Given the description of an element on the screen output the (x, y) to click on. 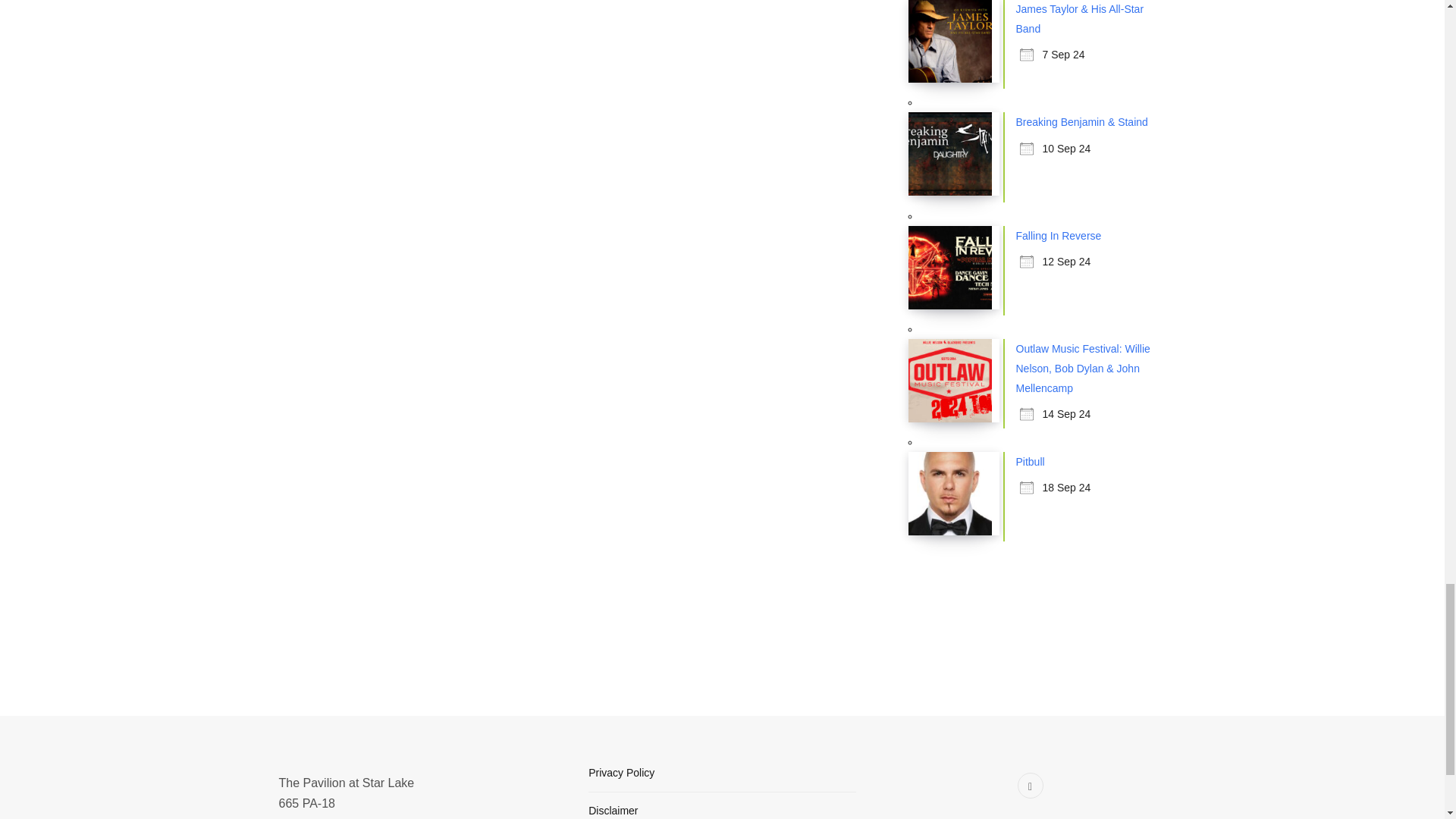
Falling In Reverse (1059, 235)
Privacy Policy (620, 772)
Pitbull (1030, 461)
Disclaimer (612, 810)
